Given the description of an element on the screen output the (x, y) to click on. 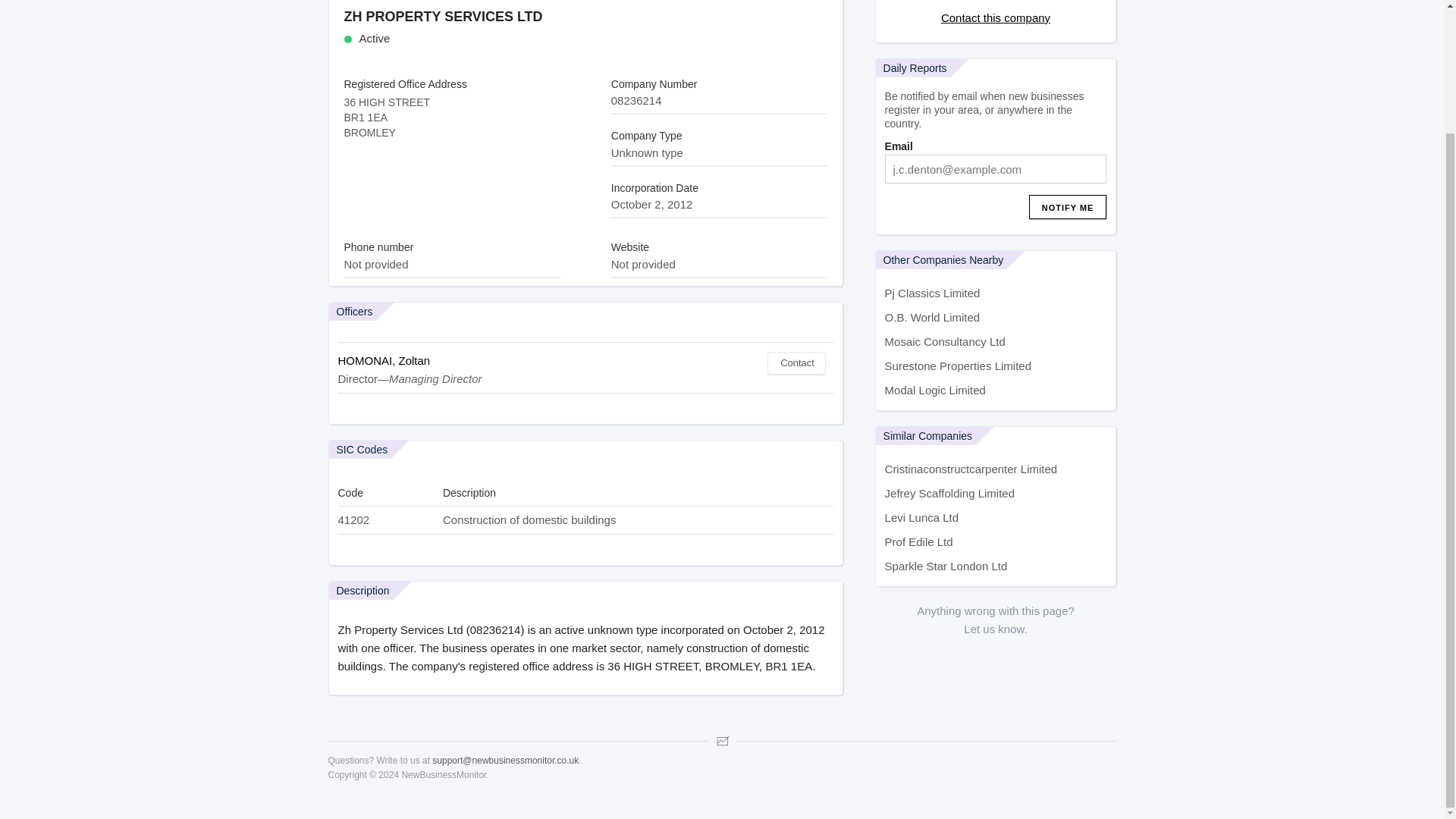
Pj Classics Limited (996, 293)
Mosaic Consultancy Ltd (996, 341)
Prof Edile Ltd (996, 541)
Jefrey Scaffolding Limited (996, 493)
Cristinaconstructcarpenter Limited (996, 469)
O.B. World Limited (996, 317)
Contact this company (994, 17)
Surestone Properties Limited (996, 365)
Modal Logic Limited (996, 390)
Contact (796, 363)
Sparkle Star London Ltd (996, 566)
NOTIFY ME (1067, 206)
Levi Lunca Ltd (996, 517)
Let us know. (994, 628)
